Given the description of an element on the screen output the (x, y) to click on. 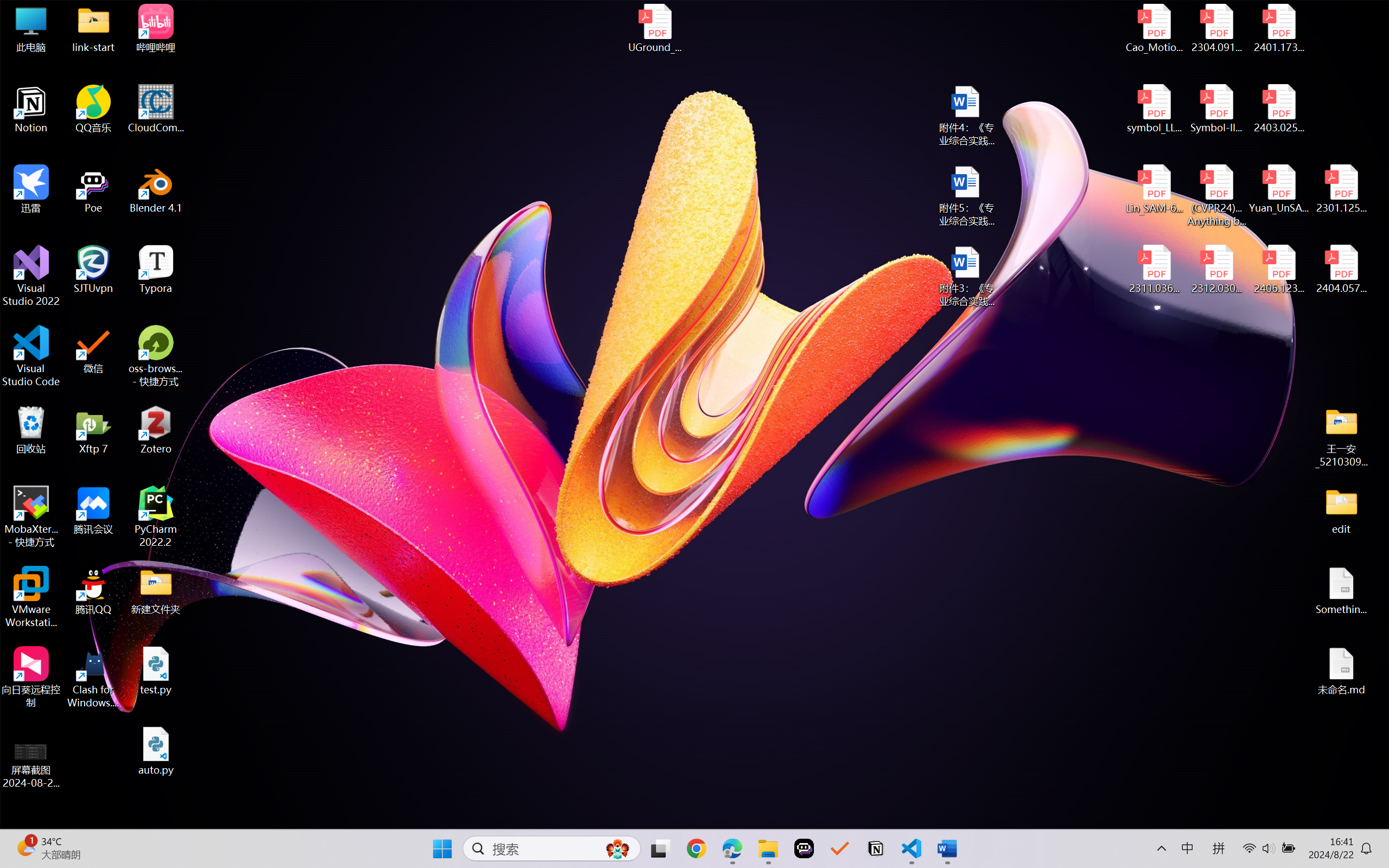
Blender 4.1 (156, 189)
2403.02502v1.pdf (1278, 109)
2401.17399v1.pdf (1278, 28)
2312.03032v2.pdf (1216, 269)
(CVPR24)Matching Anything by Segmenting Anything.pdf (1216, 195)
Visual Studio Code (31, 355)
2304.09121v3.pdf (1216, 28)
Typora (156, 269)
